Given the description of an element on the screen output the (x, y) to click on. 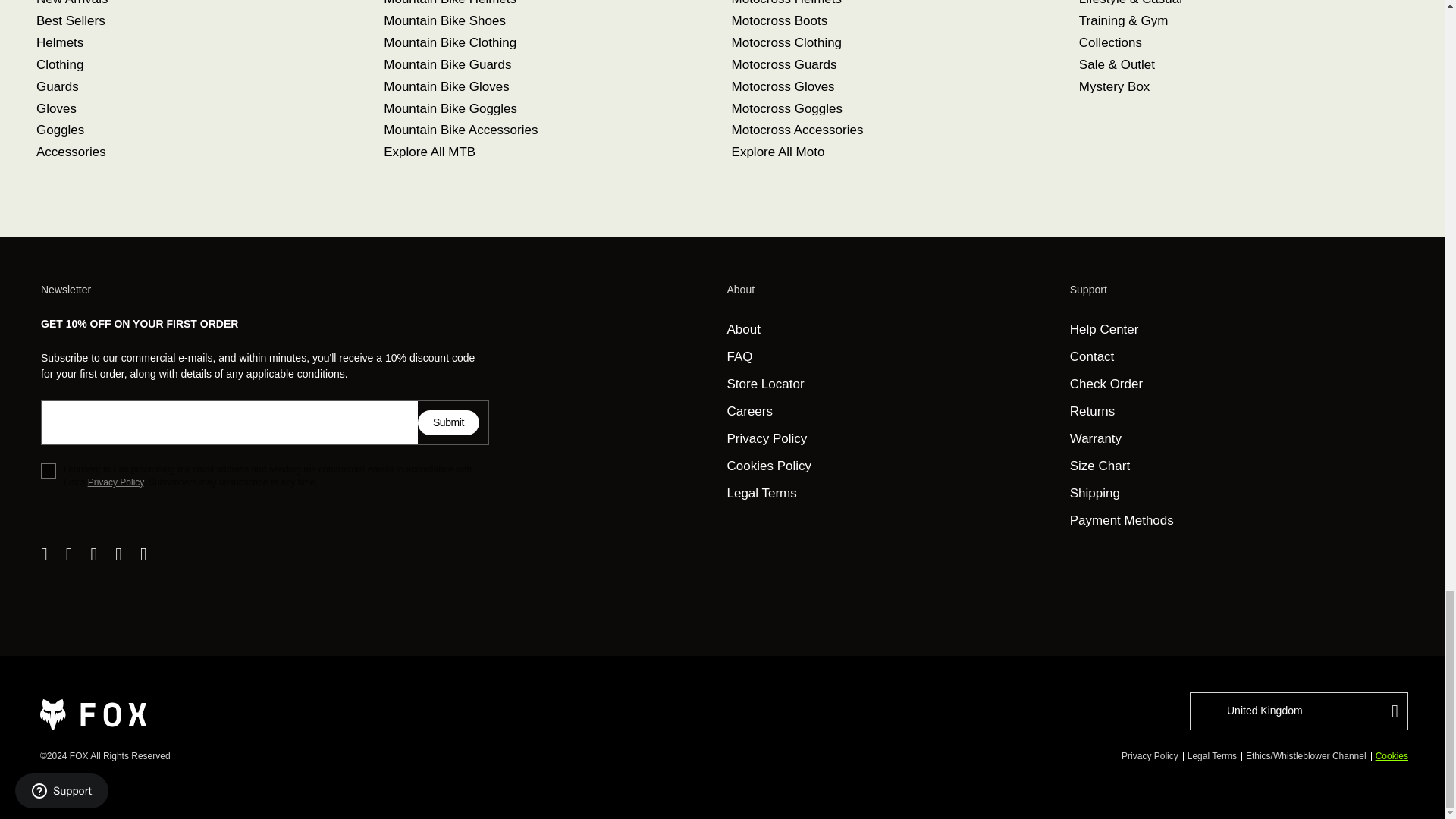
Guards (57, 86)
New Arrivals (71, 2)
Best Sellers (70, 20)
Helmets (59, 42)
Clothing (59, 64)
